Given the description of an element on the screen output the (x, y) to click on. 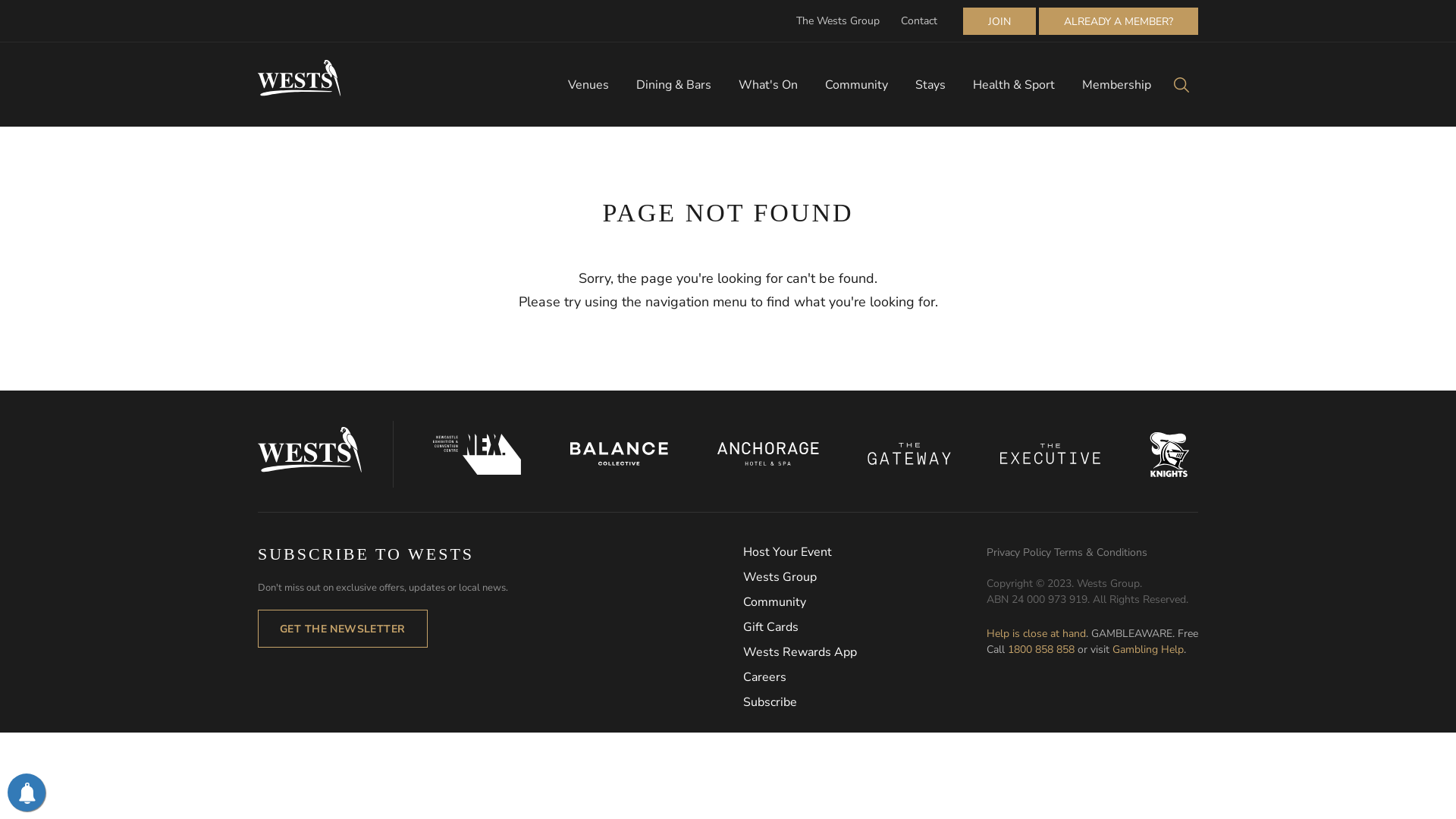
JOIN Element type: text (999, 20)
ALREADY A MEMBER? Element type: text (1118, 20)
The Wests Group Element type: text (837, 20)
Balance Collective Element type: hover (619, 453)
Gambling Help Element type: text (1147, 649)
Venues Element type: text (588, 84)
Terms & Conditions Element type: text (1100, 552)
Wests Rewards App Element type: text (864, 652)
Membership Element type: text (1116, 84)
Gift Cards Element type: text (864, 627)
Wests Group Element type: text (864, 577)
GET THE NEWSLETTER Element type: text (342, 628)
Stays Element type: text (930, 84)
Health & Sport Element type: text (1013, 84)
Gateway Inn Element type: hover (909, 453)
Careers Element type: text (864, 677)
Dining & Bars Element type: text (673, 84)
1800 858 858 Element type: text (1040, 649)
What's On Element type: text (767, 84)
Help is close at hand Element type: text (1035, 633)
Community Element type: text (864, 602)
Contact Element type: text (918, 20)
The Anchorage Element type: hover (767, 453)
Subscribe Element type: text (864, 702)
Community Element type: text (856, 84)
Newcastle Knights Element type: hover (1168, 453)
Privacy Policy Element type: text (1020, 552)
The Nex - Newcastle exhibition and converntion centre Element type: hover (476, 453)
Executive Inn Element type: hover (1050, 453)
Host Your Event Element type: text (864, 552)
